Given the description of an element on the screen output the (x, y) to click on. 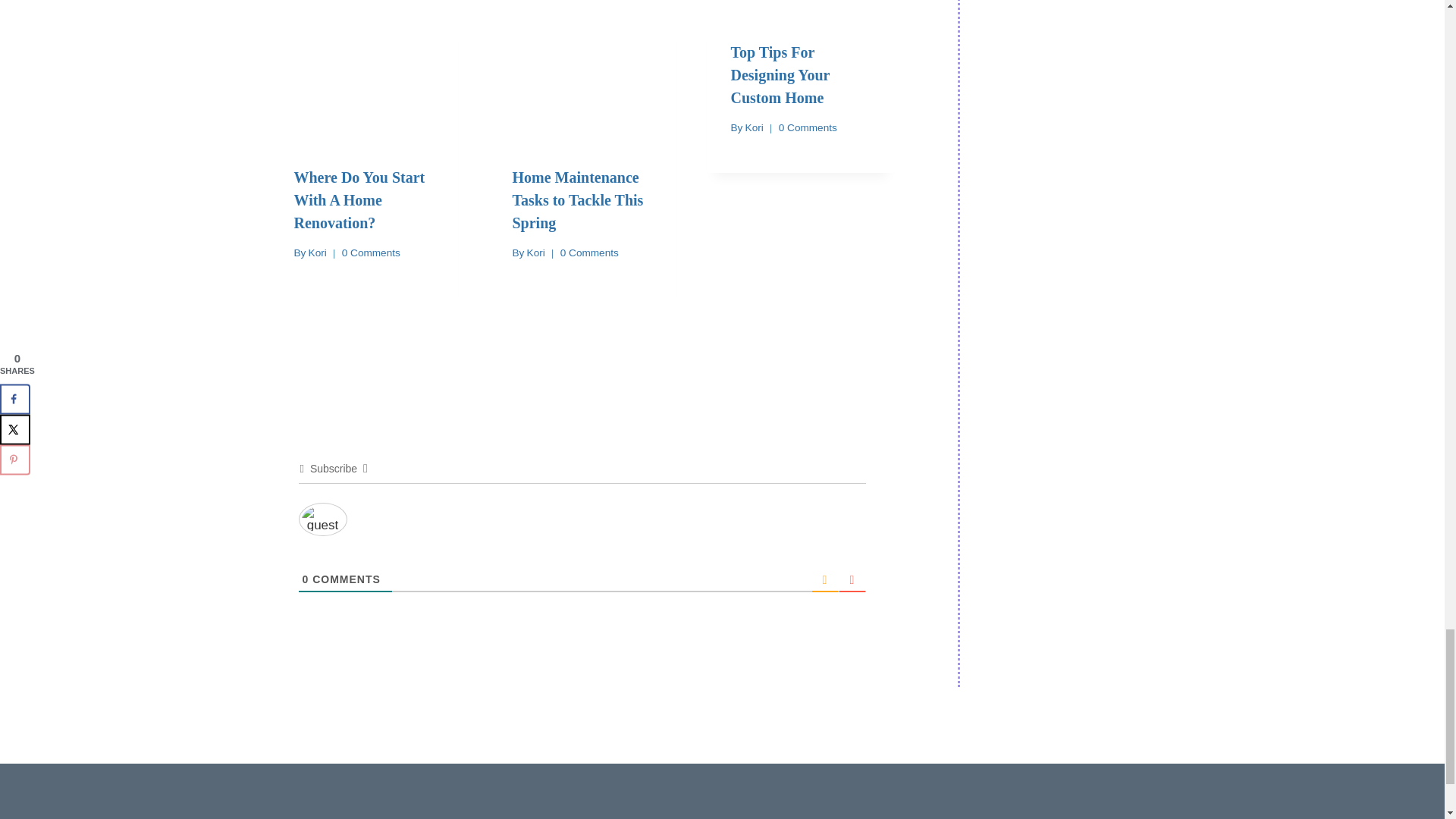
0 Comments (589, 252)
0 Comments (371, 252)
0 Comments (807, 127)
